Given the description of an element on the screen output the (x, y) to click on. 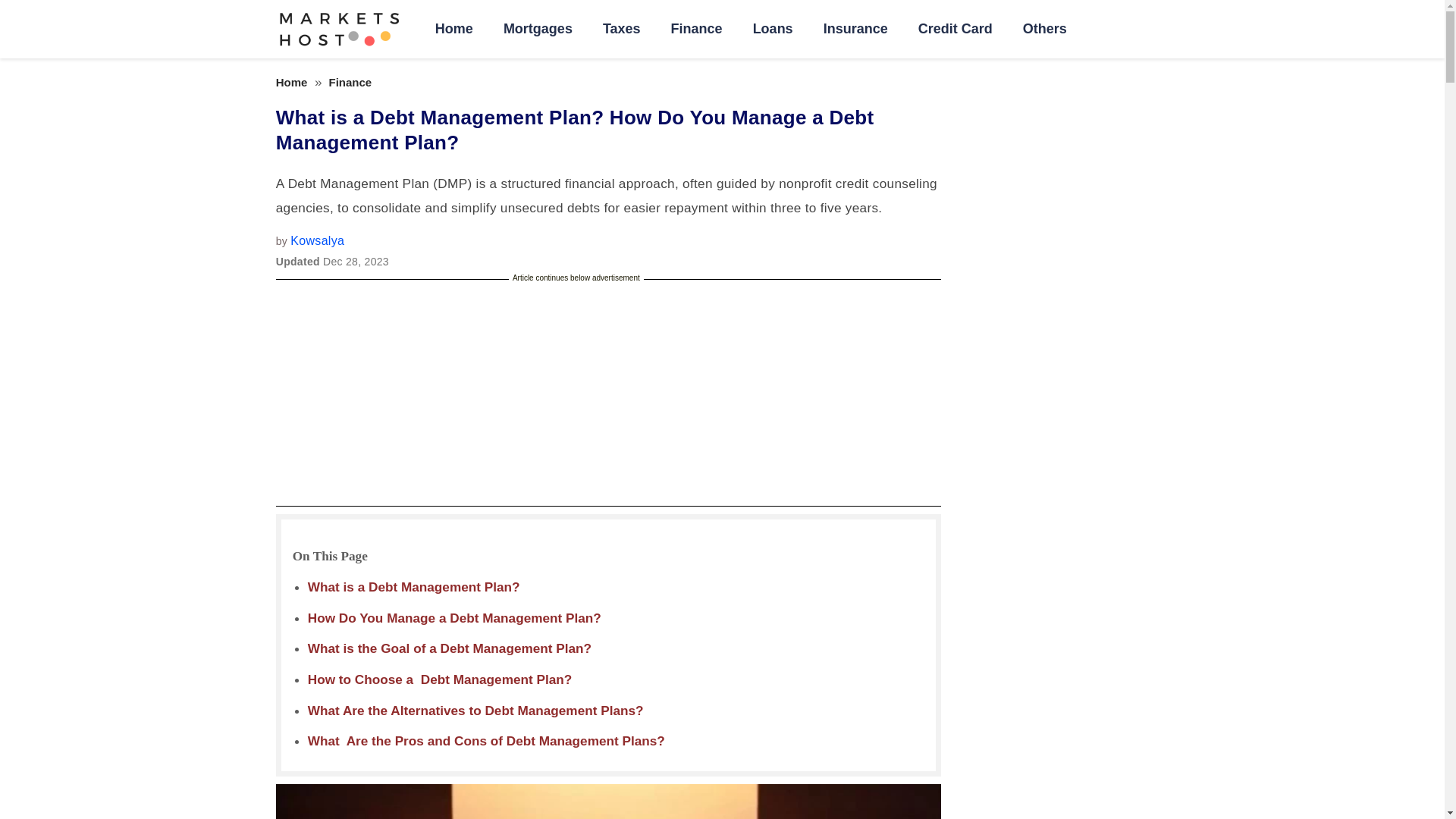
Others (1044, 29)
How to Choose a  Debt Management Plan? (439, 679)
Finance (350, 82)
Taxes (622, 29)
Home (453, 29)
Finance (697, 29)
Kowsalya (316, 240)
Mortgages (537, 29)
What  Are the Pros and Cons of Debt Management Plans? (486, 740)
Home (291, 82)
What is a Debt Management Plan?  (415, 586)
What is the Goal of a Debt Management Plan? (449, 648)
Loans (773, 29)
Credit Card (954, 29)
